Given the description of an element on the screen output the (x, y) to click on. 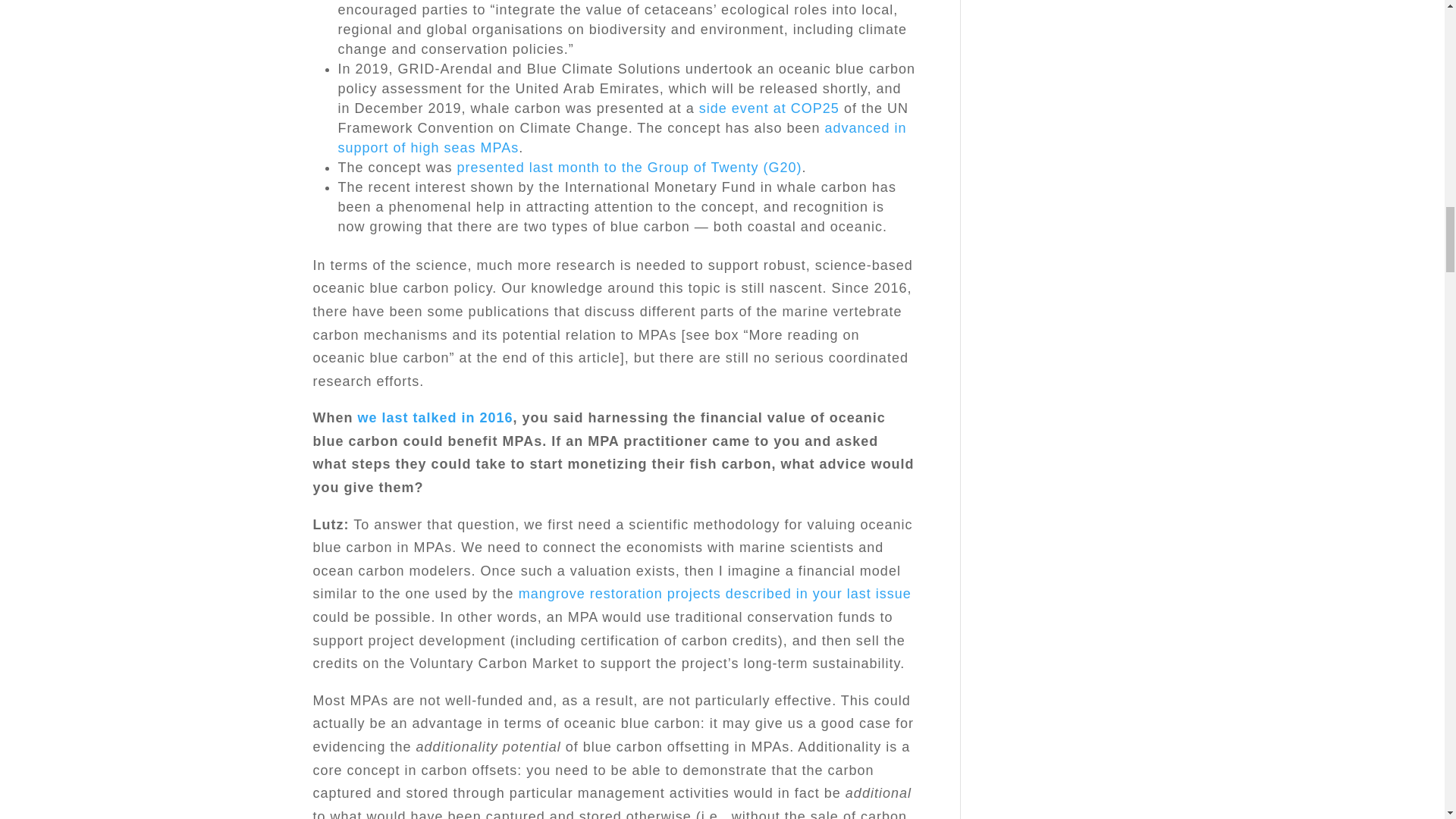
side event at COP25 (769, 108)
mangrove restoration projects described in your last issue (714, 593)
advanced in support of high seas MPAs (622, 137)
we last talked in 2016 (435, 417)
